Given the description of an element on the screen output the (x, y) to click on. 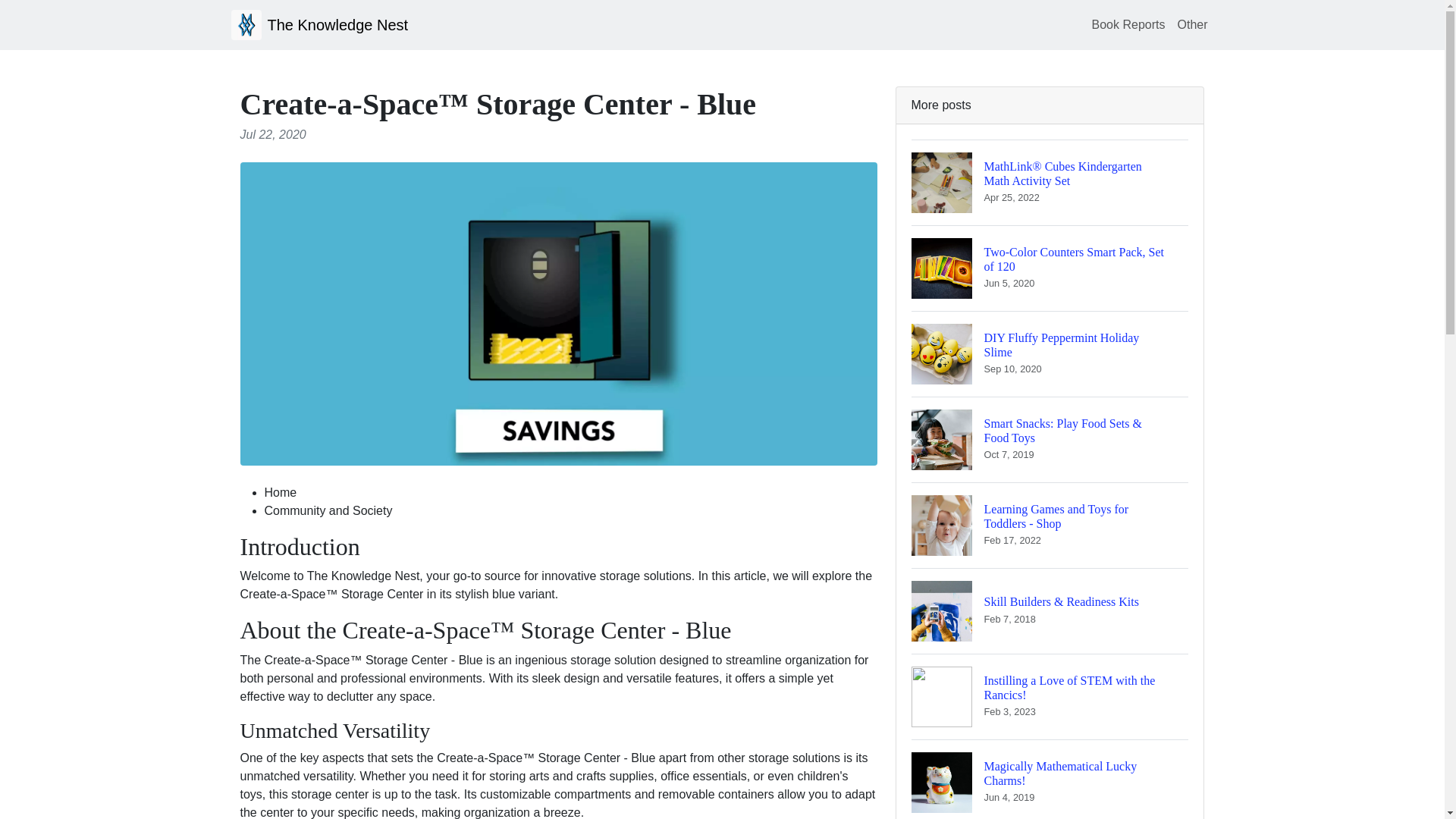
Book Reports (1129, 24)
Other (1191, 24)
The Knowledge Nest (1050, 779)
